Given the description of an element on the screen output the (x, y) to click on. 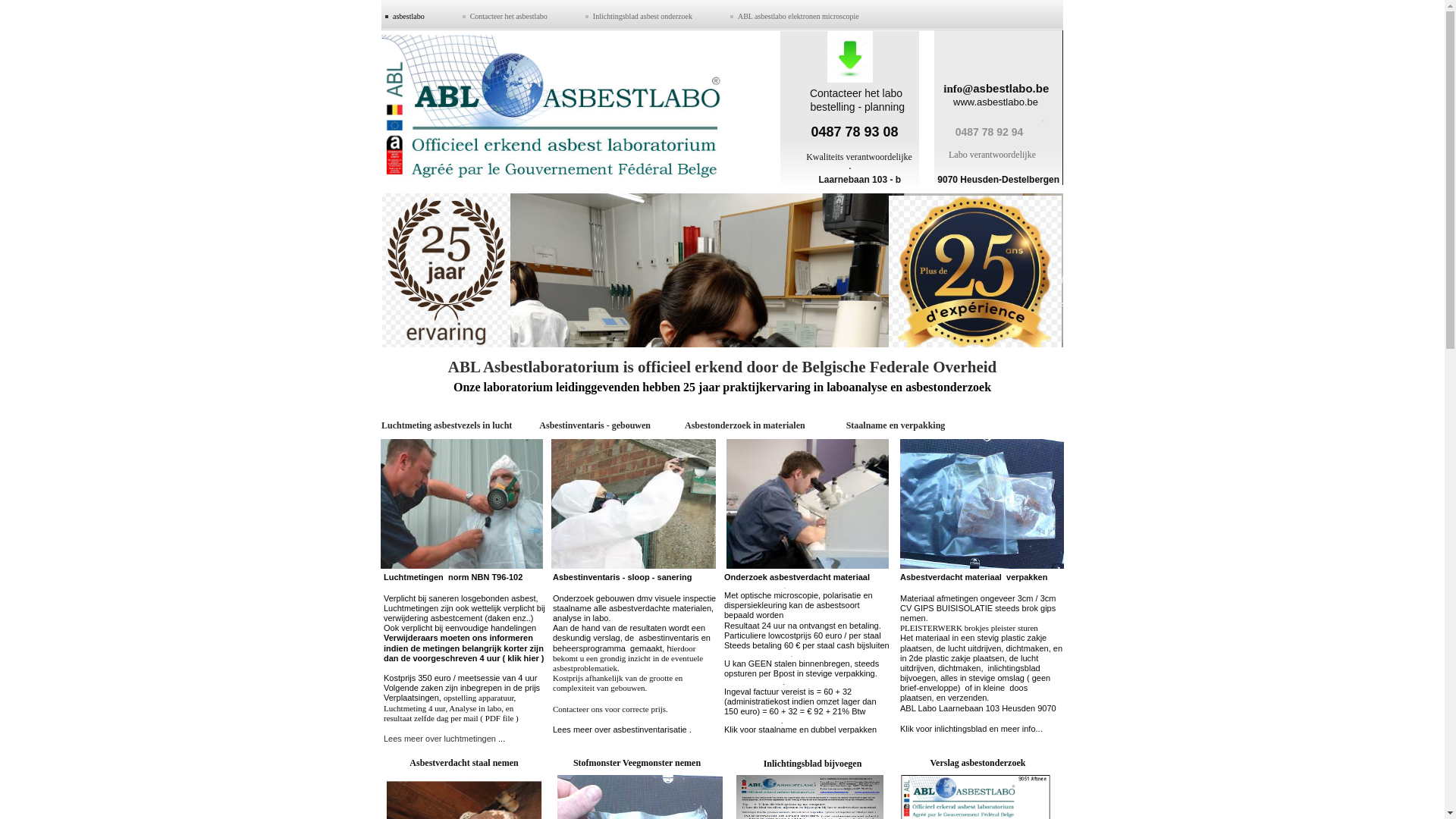
ABL asbestlabo elektronen microscopie Element type: text (798, 14)
Inlichtingsblad asbest onderzoek Element type: text (642, 14)
Lees meer over luchtmetingen . Element type: text (441, 738)
asbestlabo Element type: text (408, 14)
Contacteer het asbestlabo Element type: text (508, 14)
